Given the description of an element on the screen output the (x, y) to click on. 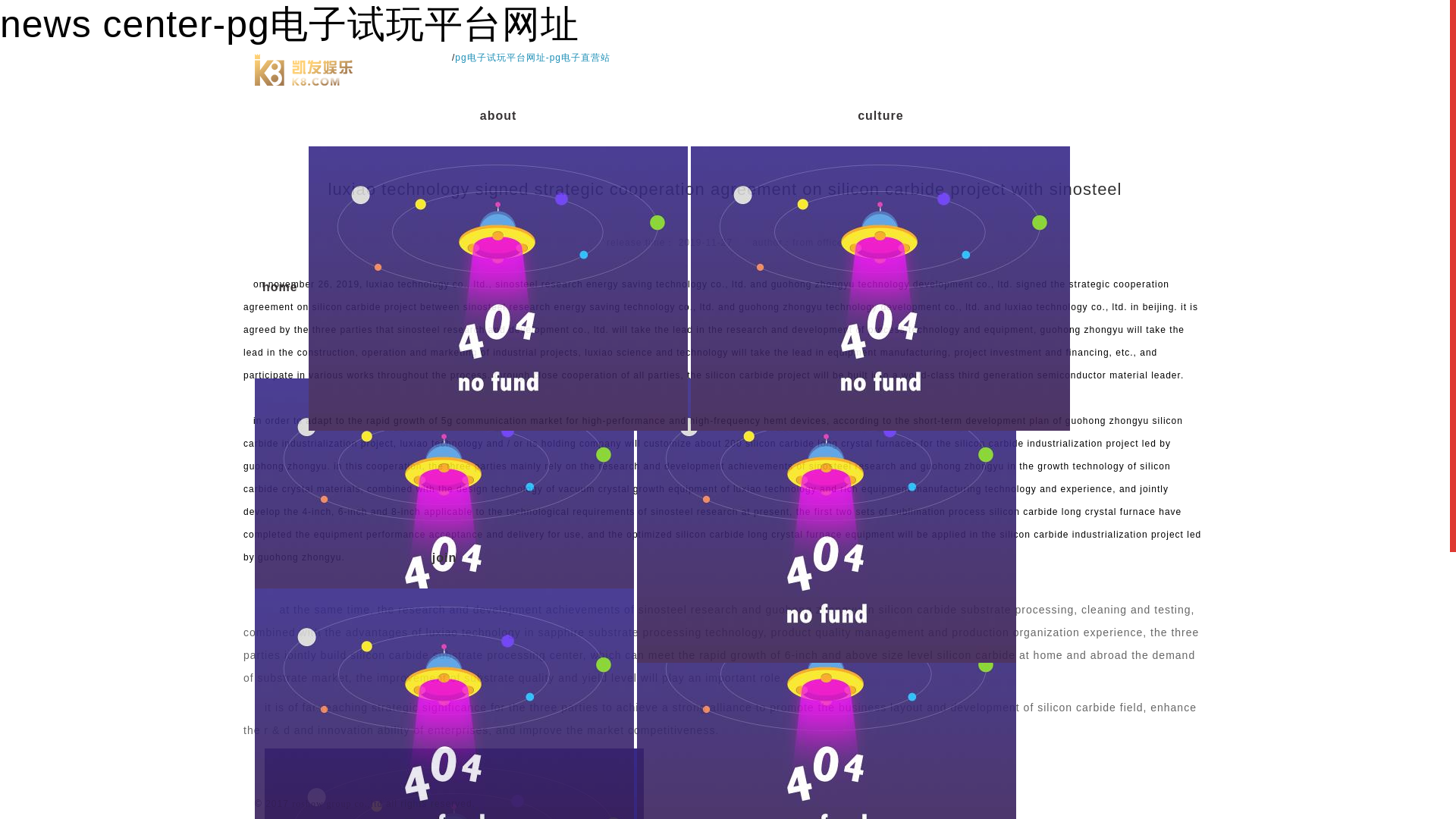
news (826, 347)
culture (880, 115)
about (497, 115)
strategic (443, 347)
contact (826, 557)
join (443, 557)
